Given the description of an element on the screen output the (x, y) to click on. 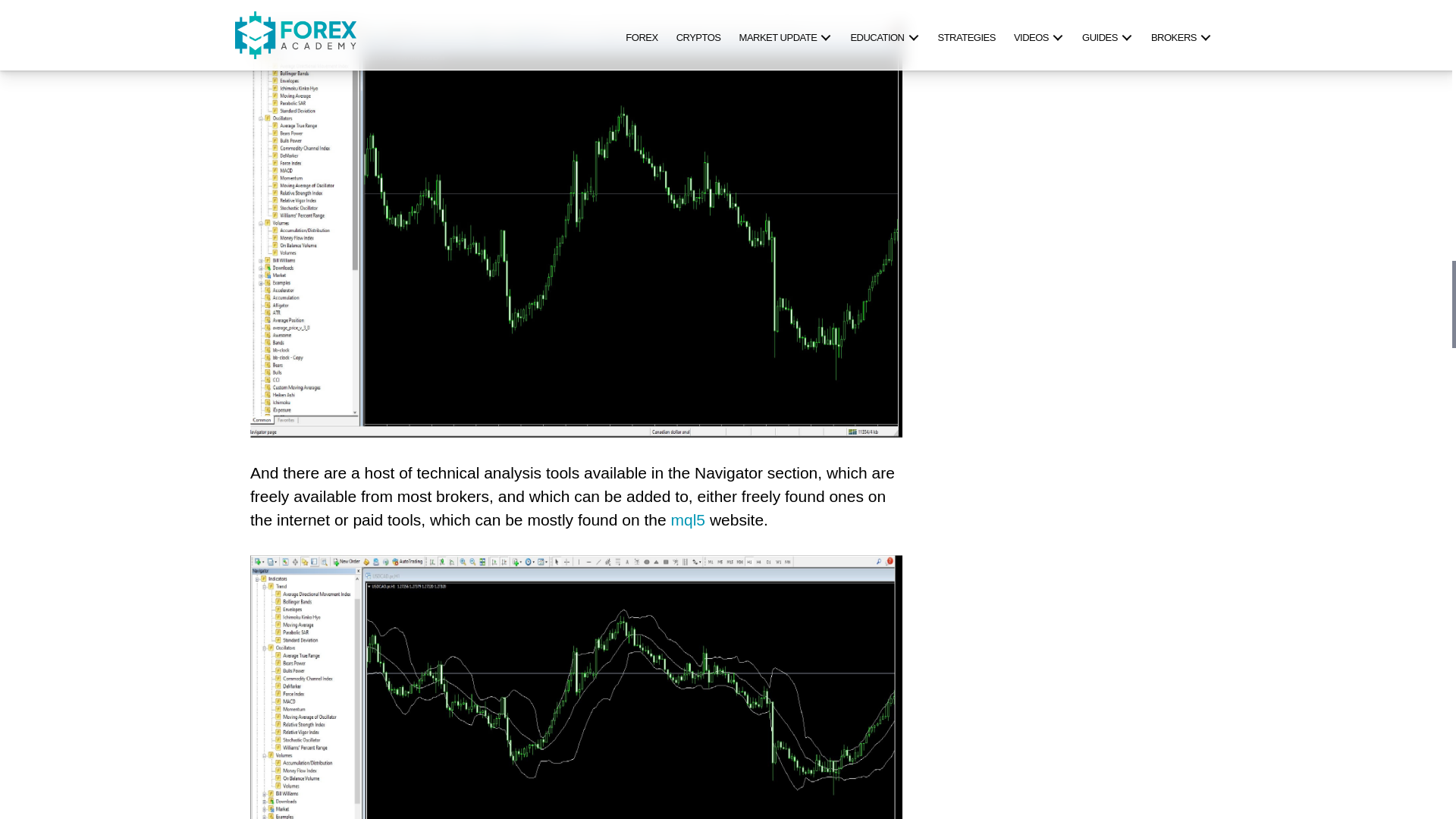
mql5 (688, 520)
